Given the description of an element on the screen output the (x, y) to click on. 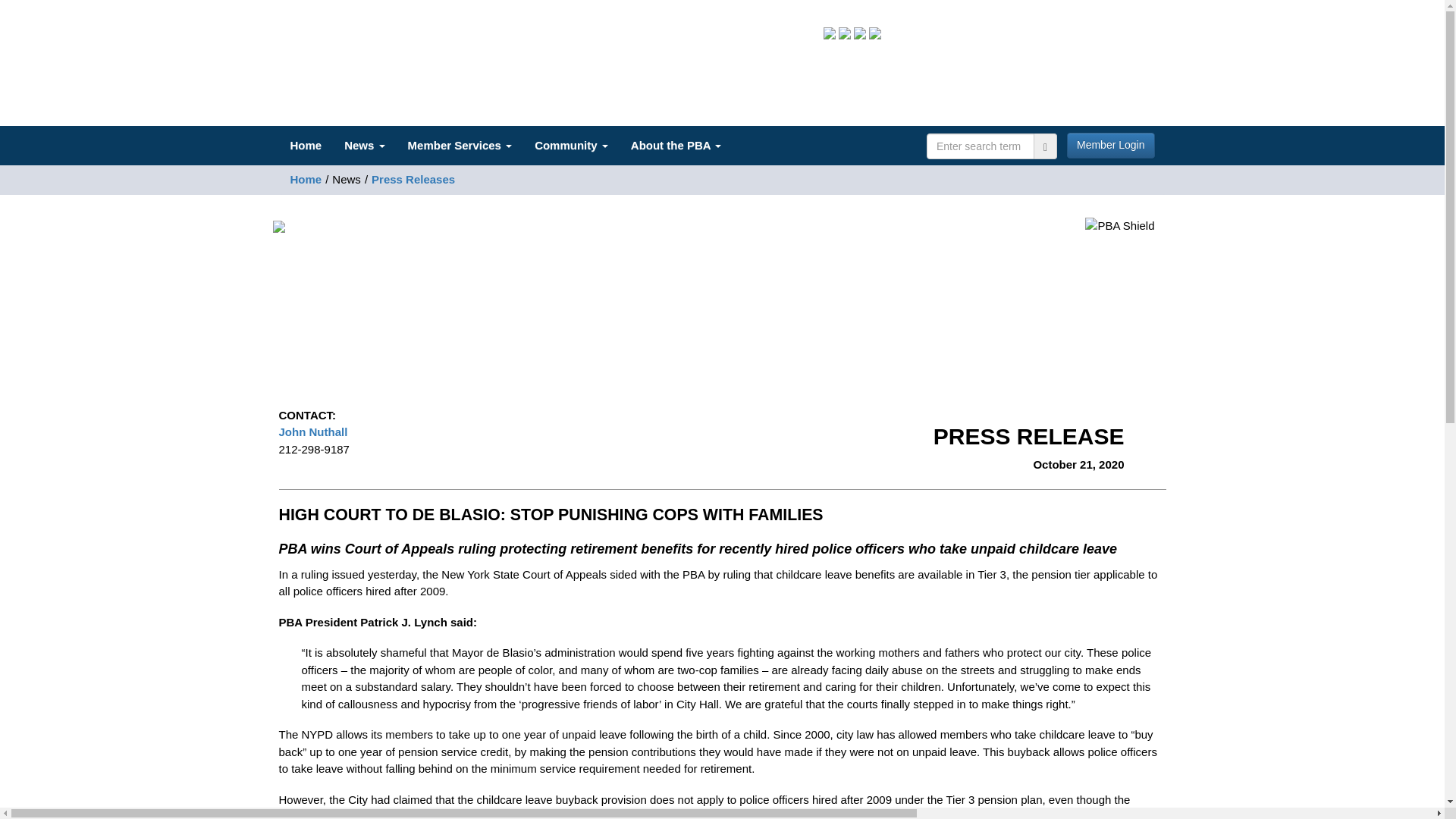
Home (306, 145)
News (364, 145)
Member Services (460, 145)
